Given the description of an element on the screen output the (x, y) to click on. 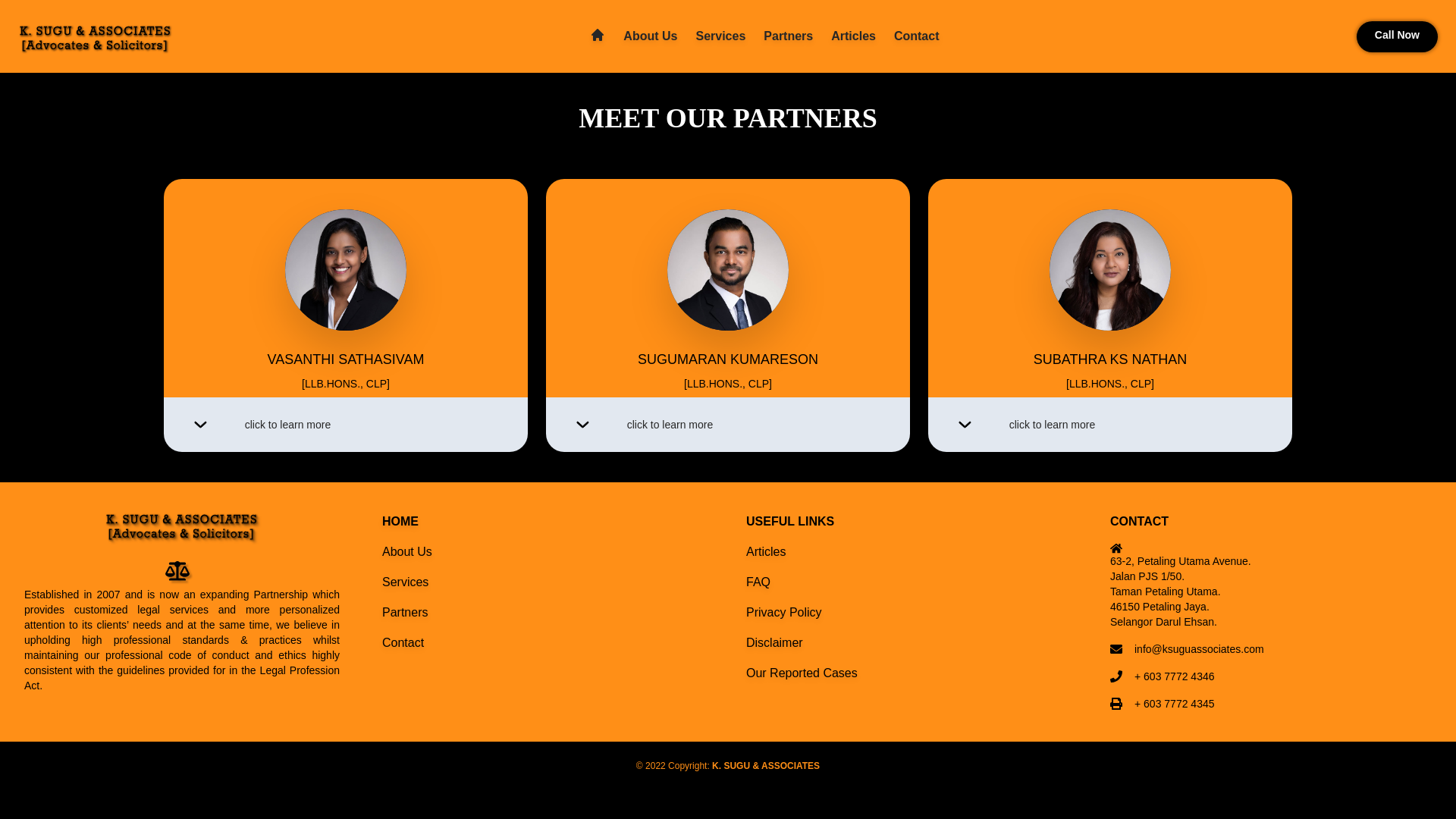
Contact (916, 36)
About Us (406, 551)
Partners (787, 36)
Our Reported Cases (801, 672)
Call Now (1397, 36)
About Us (650, 36)
click to learn more (727, 424)
Articles (765, 551)
Partners (404, 612)
Services (404, 581)
